Given the description of an element on the screen output the (x, y) to click on. 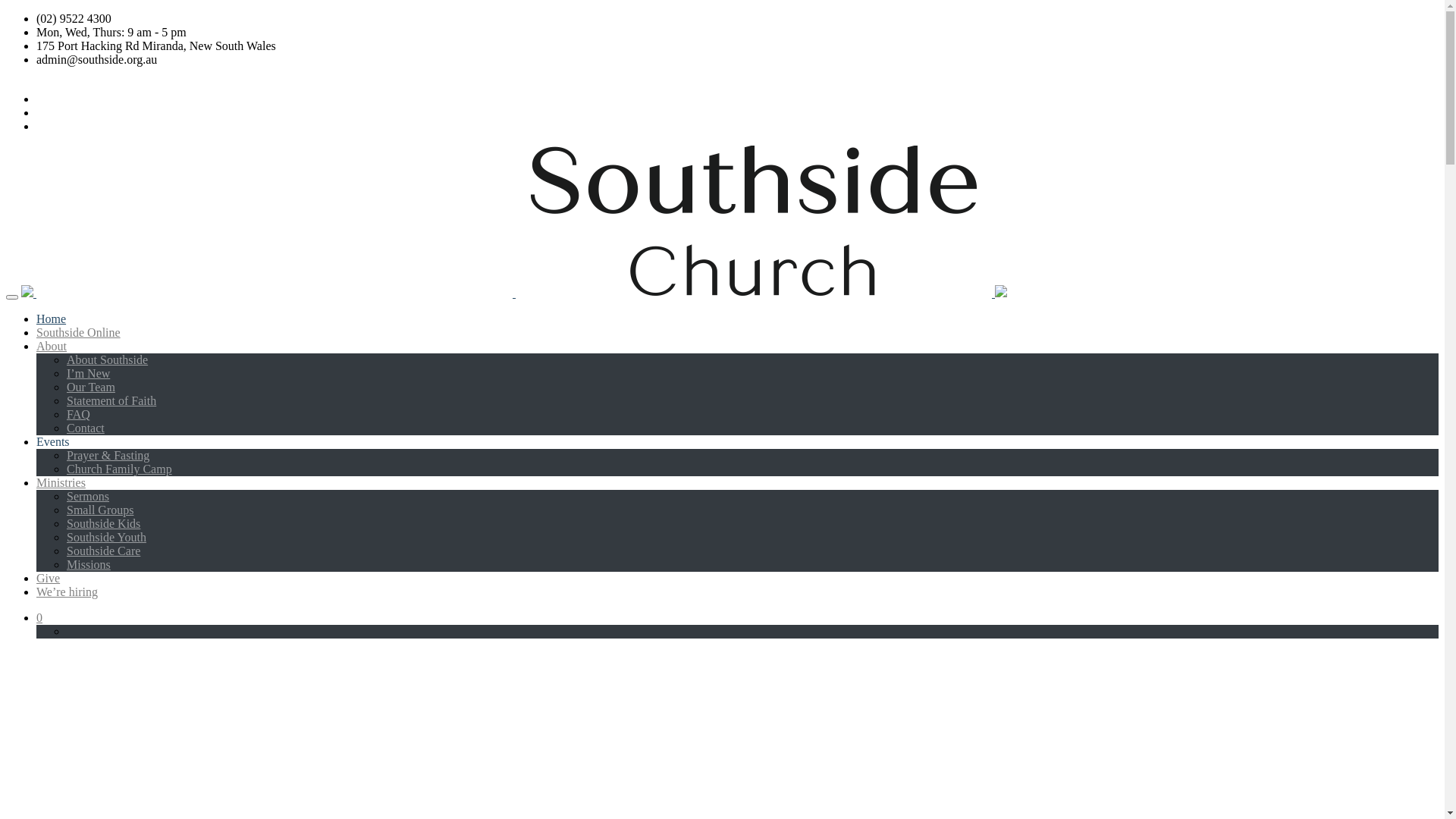
Prayer & Fasting Element type: text (752, 455)
Contact Element type: text (752, 428)
Southside Youth Element type: text (752, 537)
Our Team Element type: text (752, 387)
Statement of Faith Element type: text (752, 400)
Missions Element type: text (752, 564)
Skip to content Element type: text (5, 144)
Sermons Element type: text (752, 496)
0 Element type: text (39, 617)
Events Element type: text (737, 441)
Southside Care Element type: text (752, 551)
Ministries Element type: text (737, 482)
FAQ Element type: text (752, 414)
About Southside Element type: text (752, 360)
Home Element type: text (737, 319)
Southside Church Element type: hover (514, 292)
Small Groups Element type: text (752, 510)
Give Element type: text (737, 578)
Southside Kids Element type: text (752, 523)
Southside Online Element type: text (737, 332)
Church Family Camp Element type: text (752, 469)
About Element type: text (737, 346)
